Given the description of an element on the screen output the (x, y) to click on. 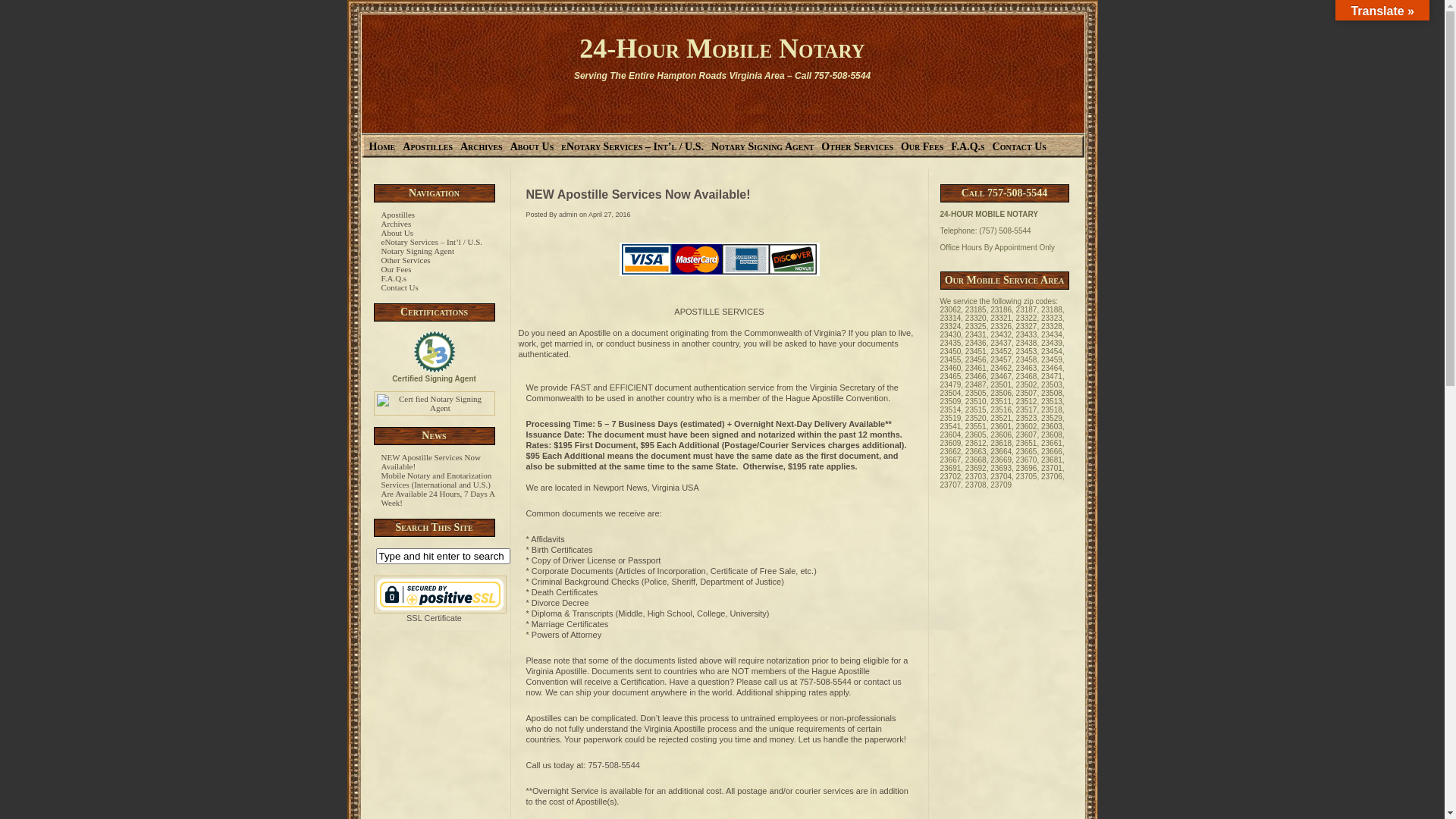
Home Element type: text (377, 146)
Notary Signing Agent Element type: text (758, 146)
24-Hour Mobile Notary Element type: text (721, 48)
SSL Certificate Element type: hover (439, 594)
Other Services Element type: text (404, 259)
About Us Element type: text (396, 232)
Our Fees Element type: text (918, 146)
SSL Certificate Element type: text (439, 613)
757-508-5544 Element type: text (613, 764)
Apostilles Element type: text (423, 146)
Notary Signing Agent Element type: text (417, 250)
contact us Element type: text (882, 681)
F.A.Q.s Element type: text (393, 277)
About Us Element type: text (528, 146)
NEW Apostille Services Now Available! Element type: text (430, 461)
admin Element type: text (567, 214)
NEW Apostille Services Now Available! Element type: text (638, 194)
Contact Us Element type: text (398, 286)
Archives Element type: text (395, 223)
Other Services Element type: text (853, 146)
Archives Element type: text (477, 146)
Certified Notary Signing Agent Element type: hover (433, 403)
Apostilles Element type: text (397, 214)
Our Fees Element type: text (395, 268)
F.A.Q.s Element type: text (963, 146)
Contact Us Element type: text (1015, 146)
